Given the description of an element on the screen output the (x, y) to click on. 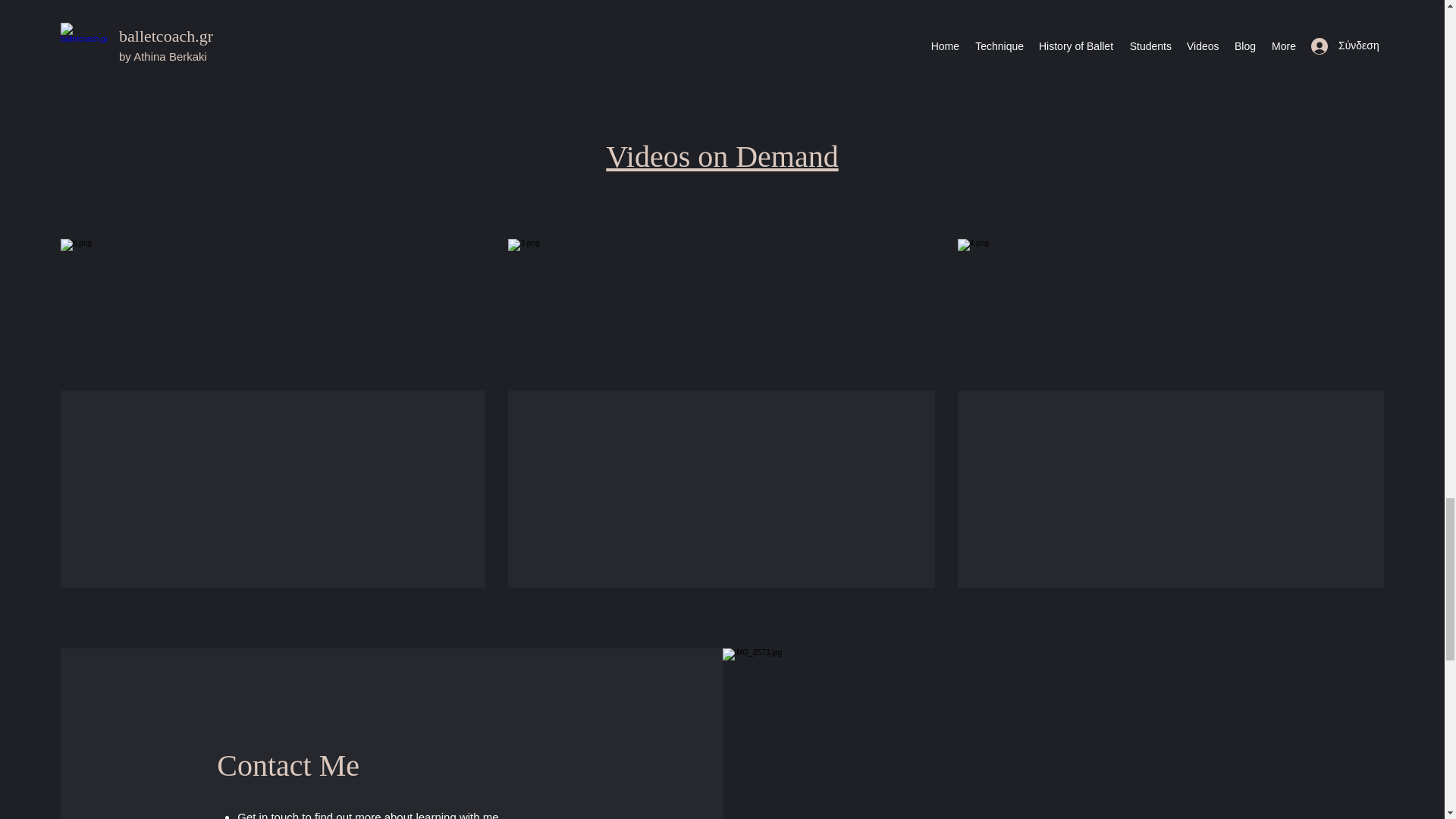
Videos on Demand (721, 156)
